Given the description of an element on the screen output the (x, y) to click on. 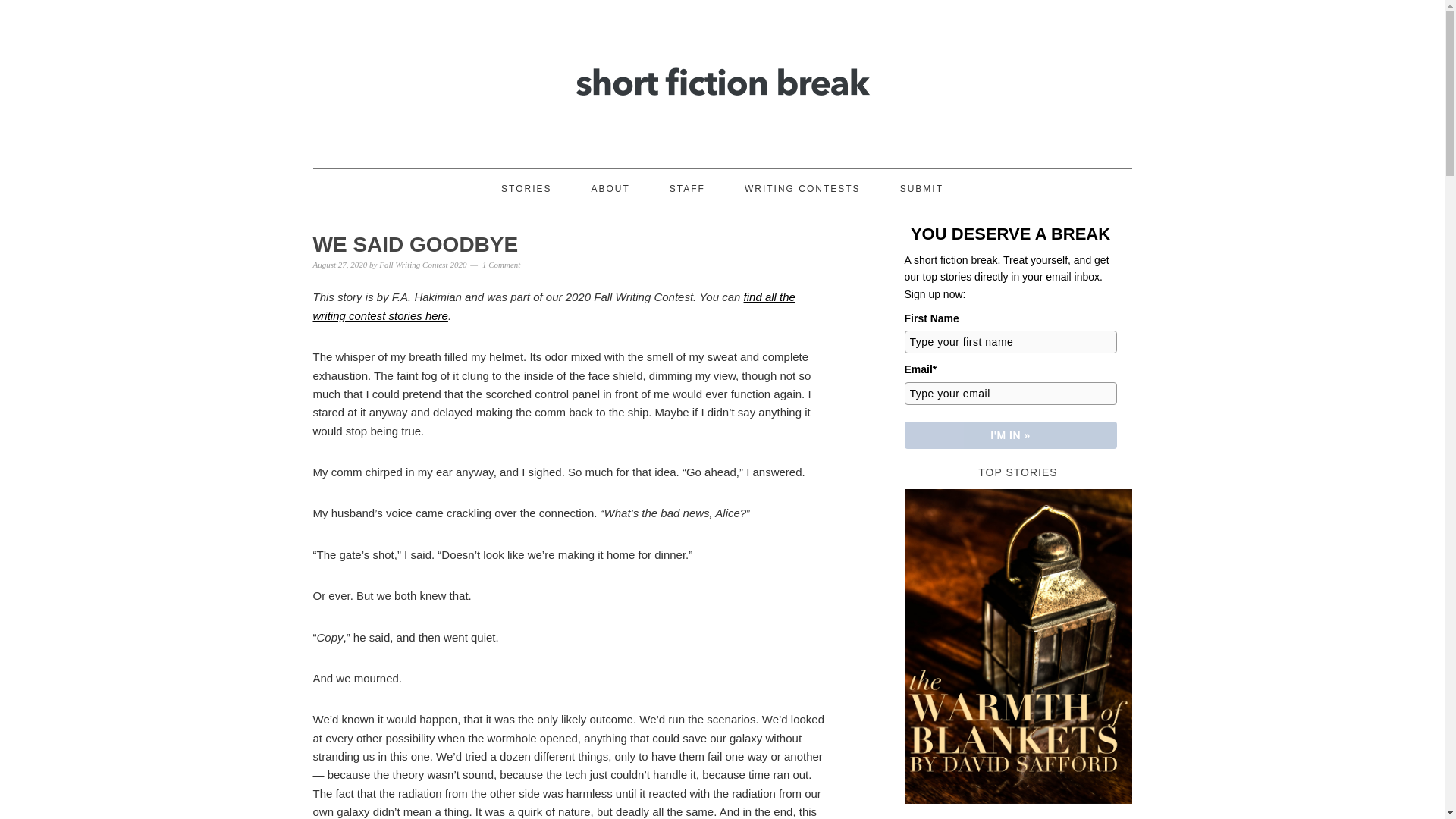
STAFF (686, 188)
ABOUT (609, 188)
SUBMIT (921, 188)
The Warmth of Blankets (1017, 648)
Fall Writing Contest 2020 (421, 264)
find all the writing contest stories here (553, 305)
WRITING CONTESTS (802, 188)
STORIES (525, 188)
SHORT FICTION BREAK (722, 77)
1 Comment (500, 264)
